Given the description of an element on the screen output the (x, y) to click on. 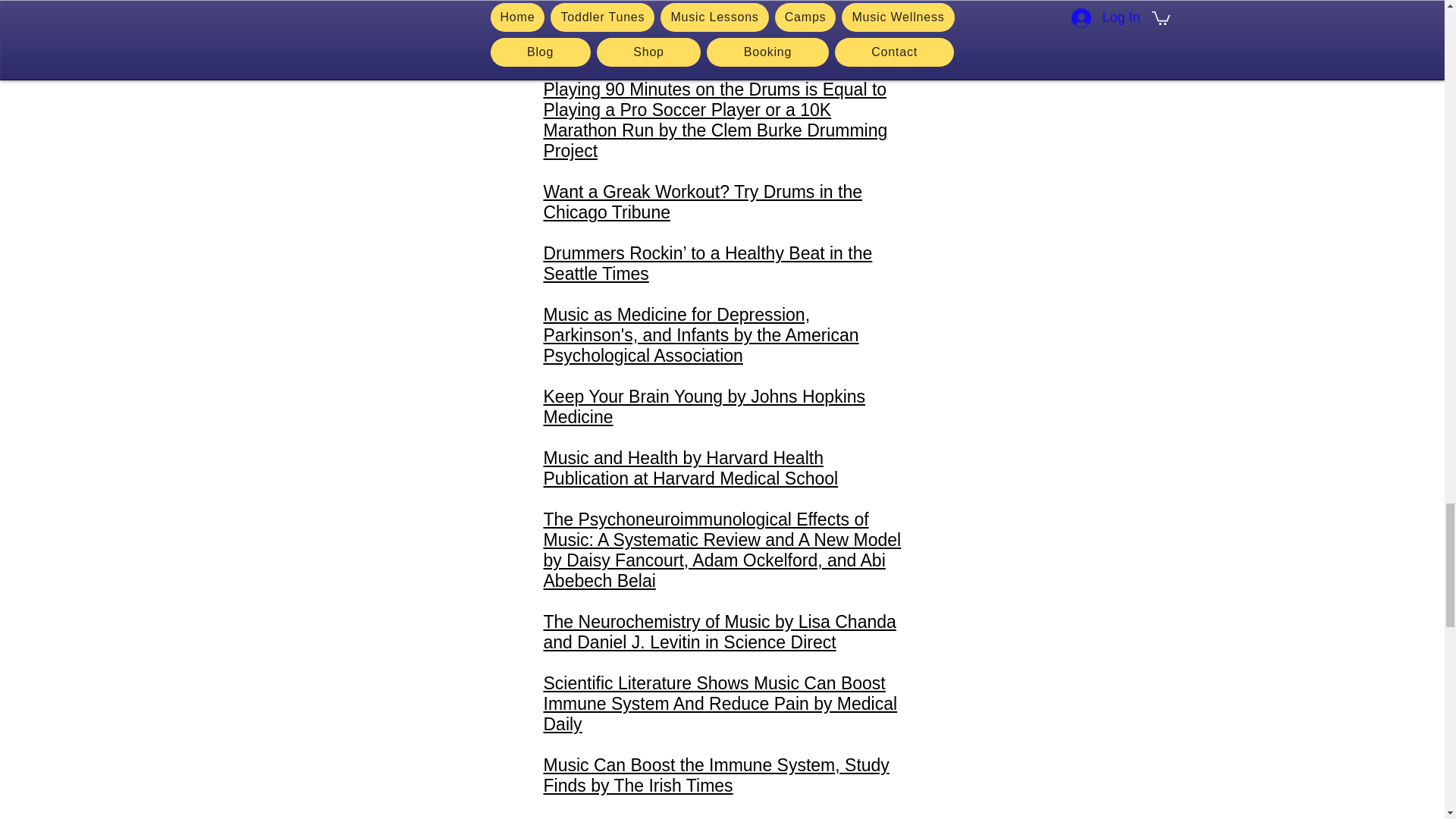
Keep Your Brain Young by Johns Hopkins Medicine (703, 406)
Want a Greak Workout? Try Drums in the Chicago Tribune (702, 201)
